Given the description of an element on the screen output the (x, y) to click on. 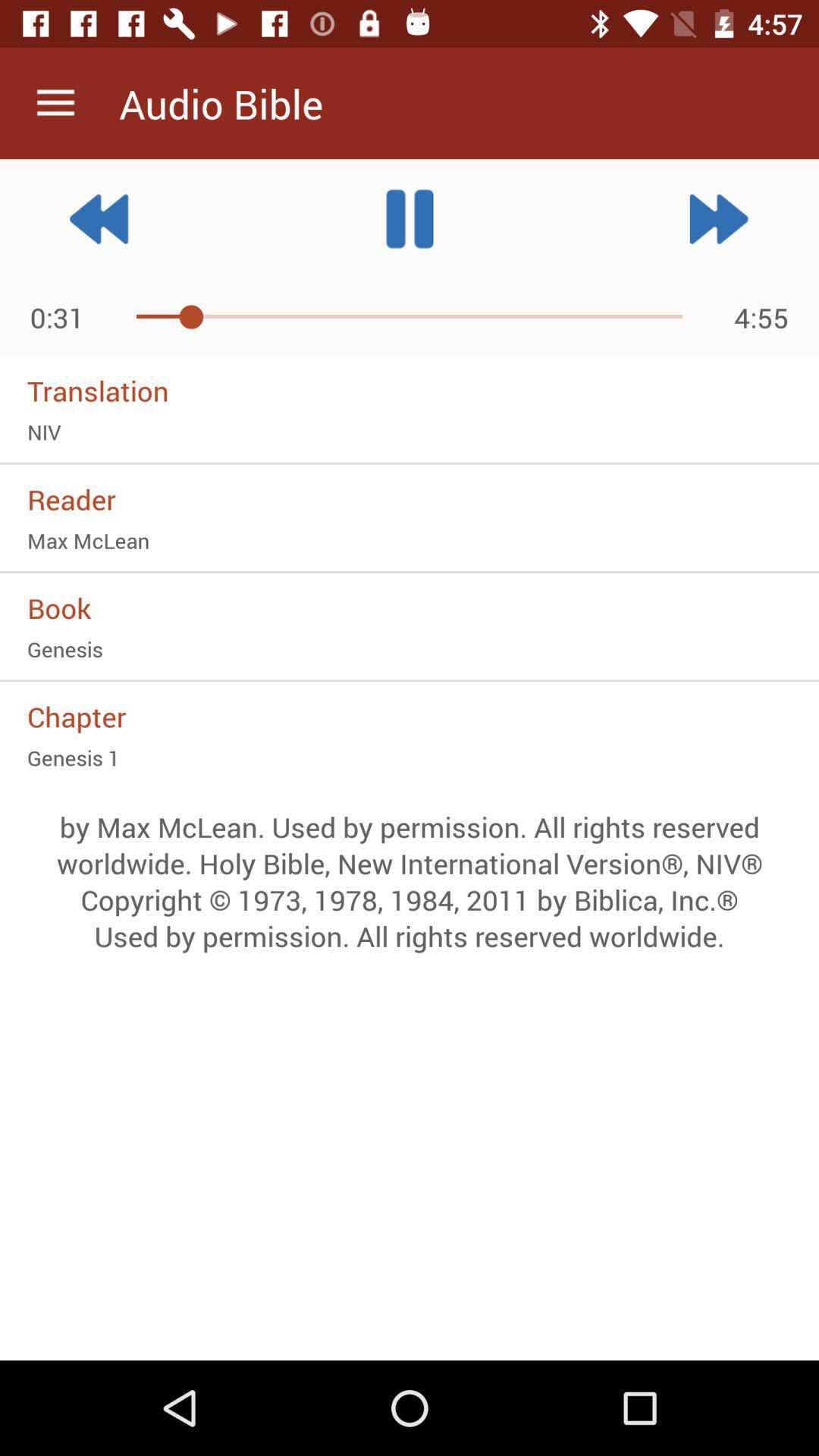
press item above the by max mclean item (409, 757)
